Given the description of an element on the screen output the (x, y) to click on. 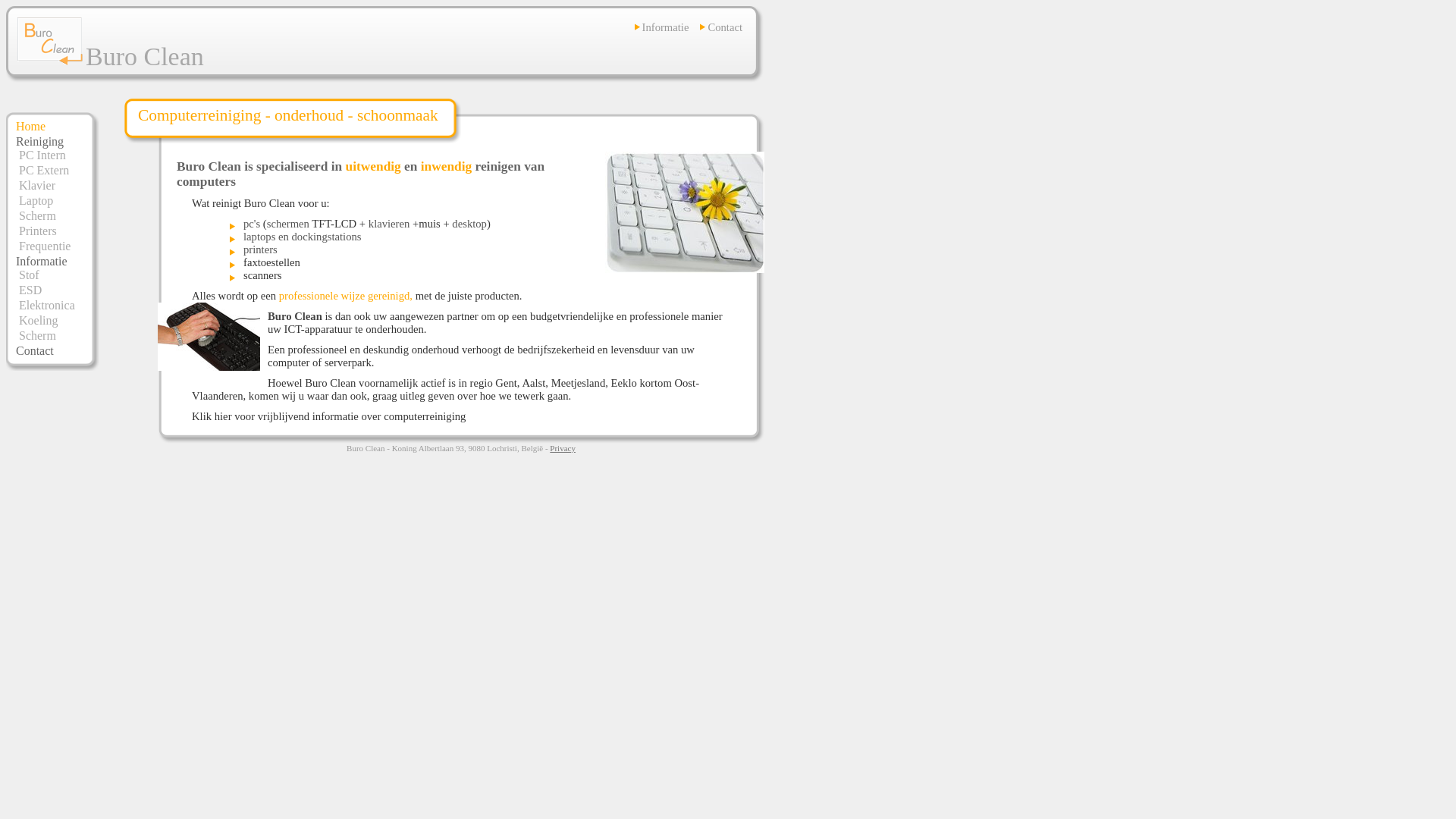
Klavier Element type: text (36, 184)
Contact Element type: text (34, 350)
Informatie Element type: text (41, 260)
Contact Element type: text (724, 27)
ESD Element type: text (29, 289)
Koeling Element type: text (38, 319)
Privacy Element type: text (562, 447)
Stof Element type: text (28, 274)
PC Extern Element type: text (43, 169)
Home Element type: text (30, 125)
, Element type: text (410, 295)
buroclean Element type: hover (51, 60)
pc's Element type: text (251, 223)
Frequentie Element type: text (44, 245)
professionele wijze gereinigd Element type: text (344, 295)
Scherm Element type: text (37, 335)
desktop Element type: text (468, 223)
Scherm Element type: text (37, 215)
Buro Clean Element type: hover (49, 41)
Reiniging Element type: text (39, 140)
laptops en dockingstations Element type: text (302, 236)
Laptop Element type: text (35, 200)
Informatie Element type: text (665, 27)
printers Element type: text (260, 249)
klavieren Element type: text (389, 223)
schermen Element type: text (287, 223)
uitwendig Element type: text (373, 166)
inwendig Element type: text (445, 166)
Printers Element type: text (37, 230)
PC Intern Element type: text (41, 154)
Elektronica Element type: text (46, 304)
